Given the description of an element on the screen output the (x, y) to click on. 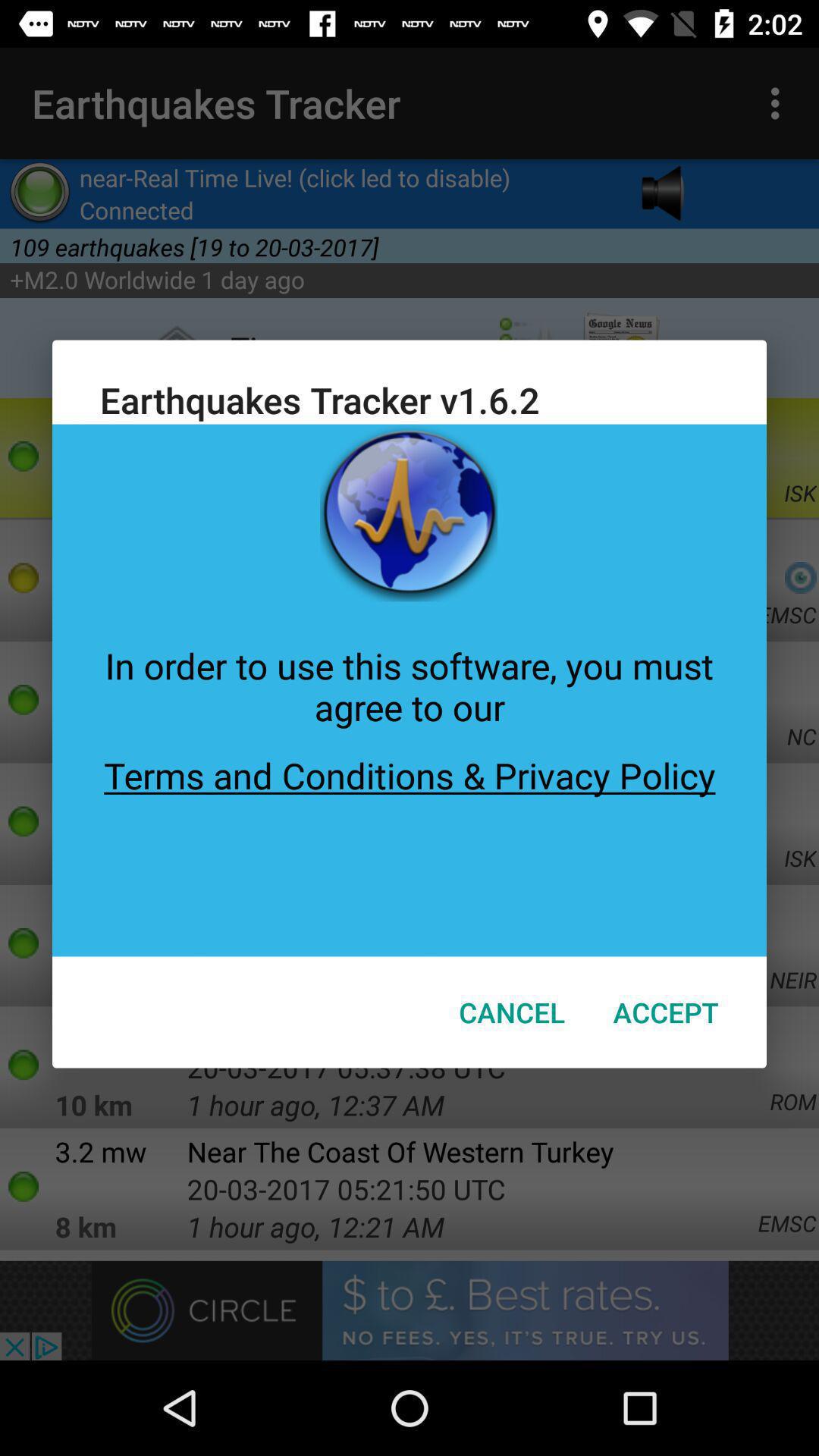
jump to the cancel icon (512, 1012)
